Given the description of an element on the screen output the (x, y) to click on. 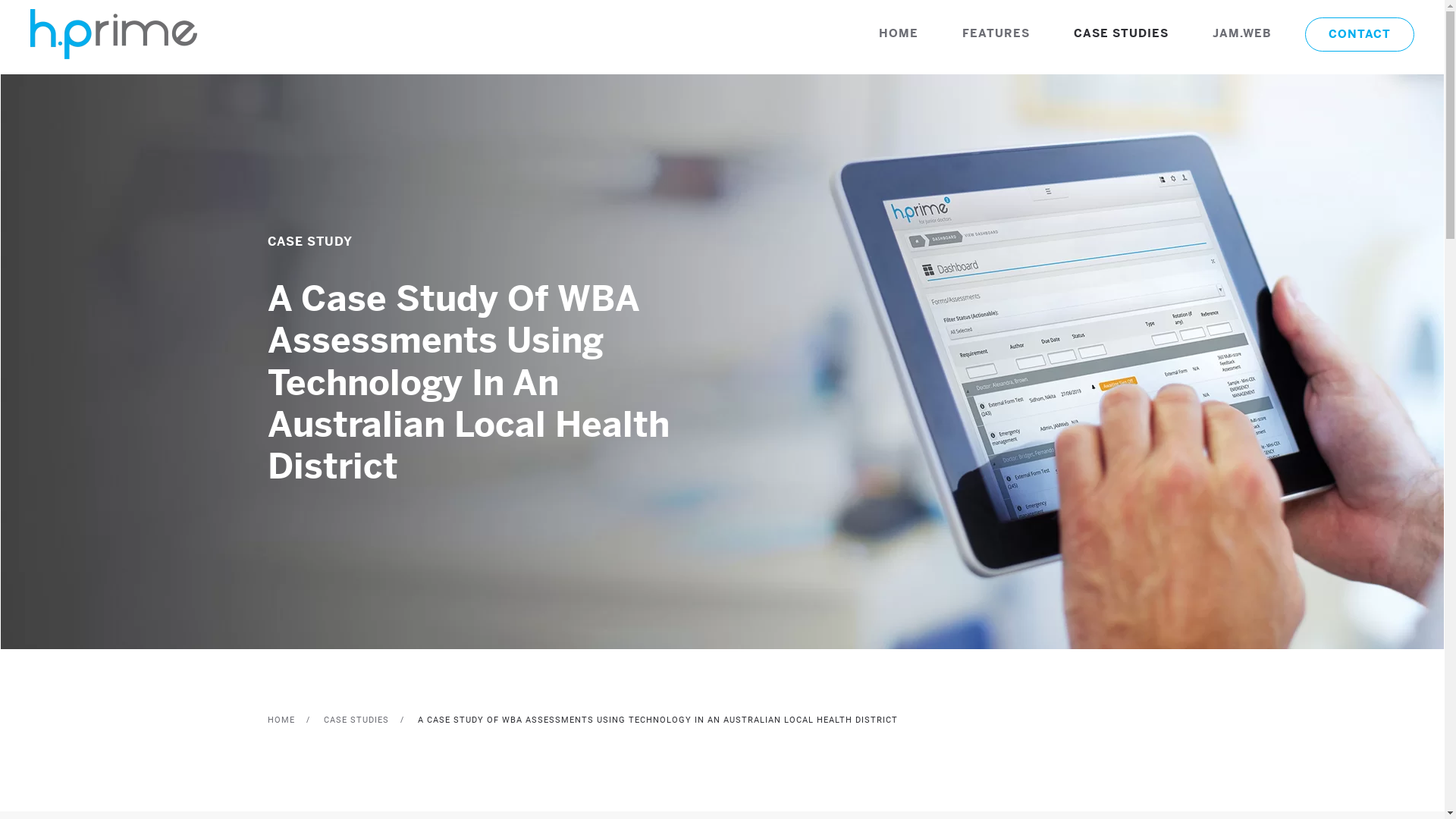
CASE STUDIES Element type: text (355, 719)
CONTACT Element type: text (1359, 33)
HOME Element type: text (898, 34)
CASE STUDIES Element type: text (1121, 34)
HOME Element type: text (280, 719)
JAM.WEB Element type: text (1241, 34)
FEATURES Element type: text (995, 34)
